Given the description of an element on the screen output the (x, y) to click on. 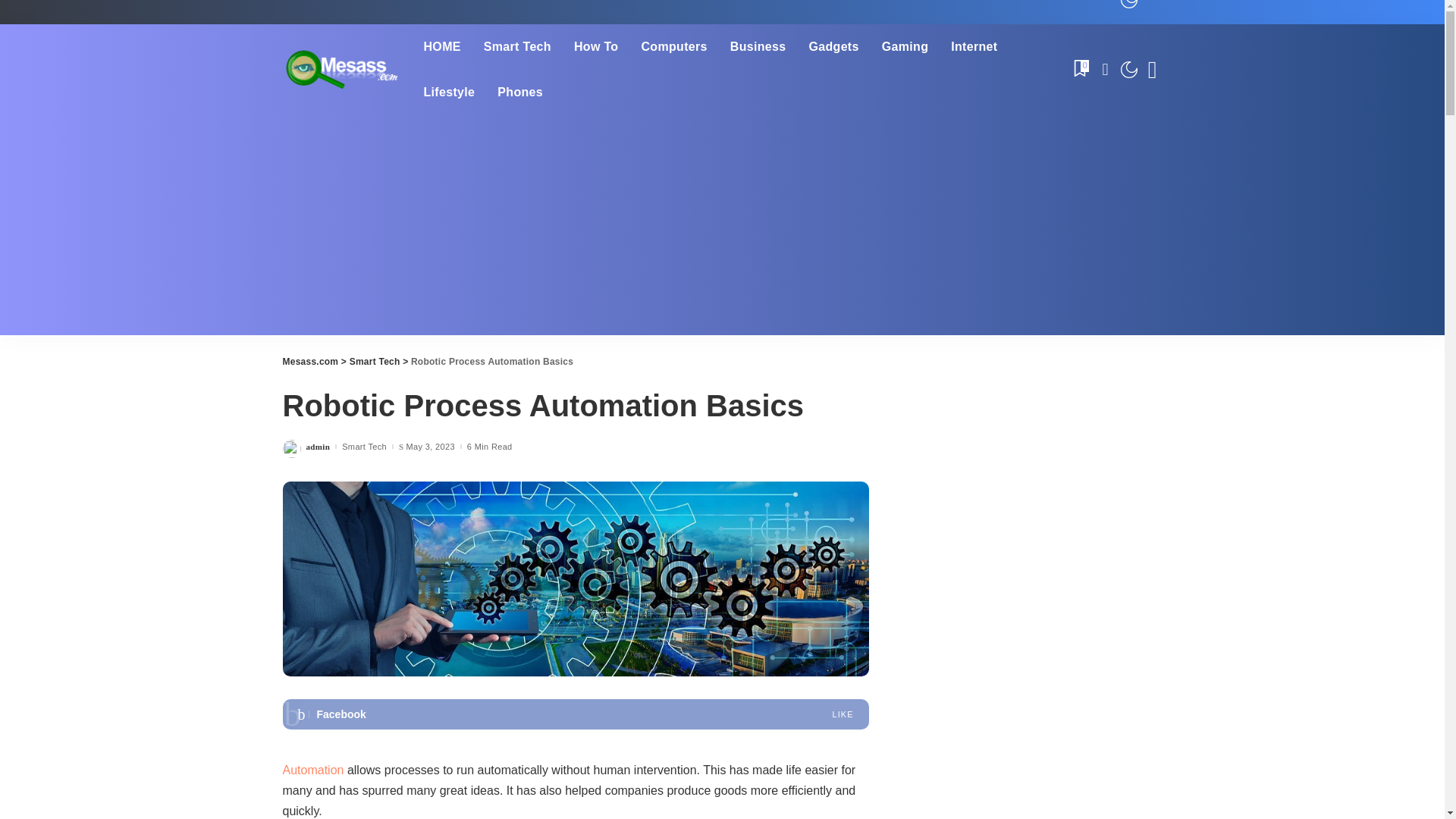
Gadgets (832, 46)
Lifestyle (449, 92)
Business (758, 46)
HOME (441, 46)
Phones (520, 92)
Mesass.com (341, 69)
Smart Tech (516, 46)
Gaming (904, 46)
Computers (672, 46)
Internet (974, 46)
How To (596, 46)
